Given the description of an element on the screen output the (x, y) to click on. 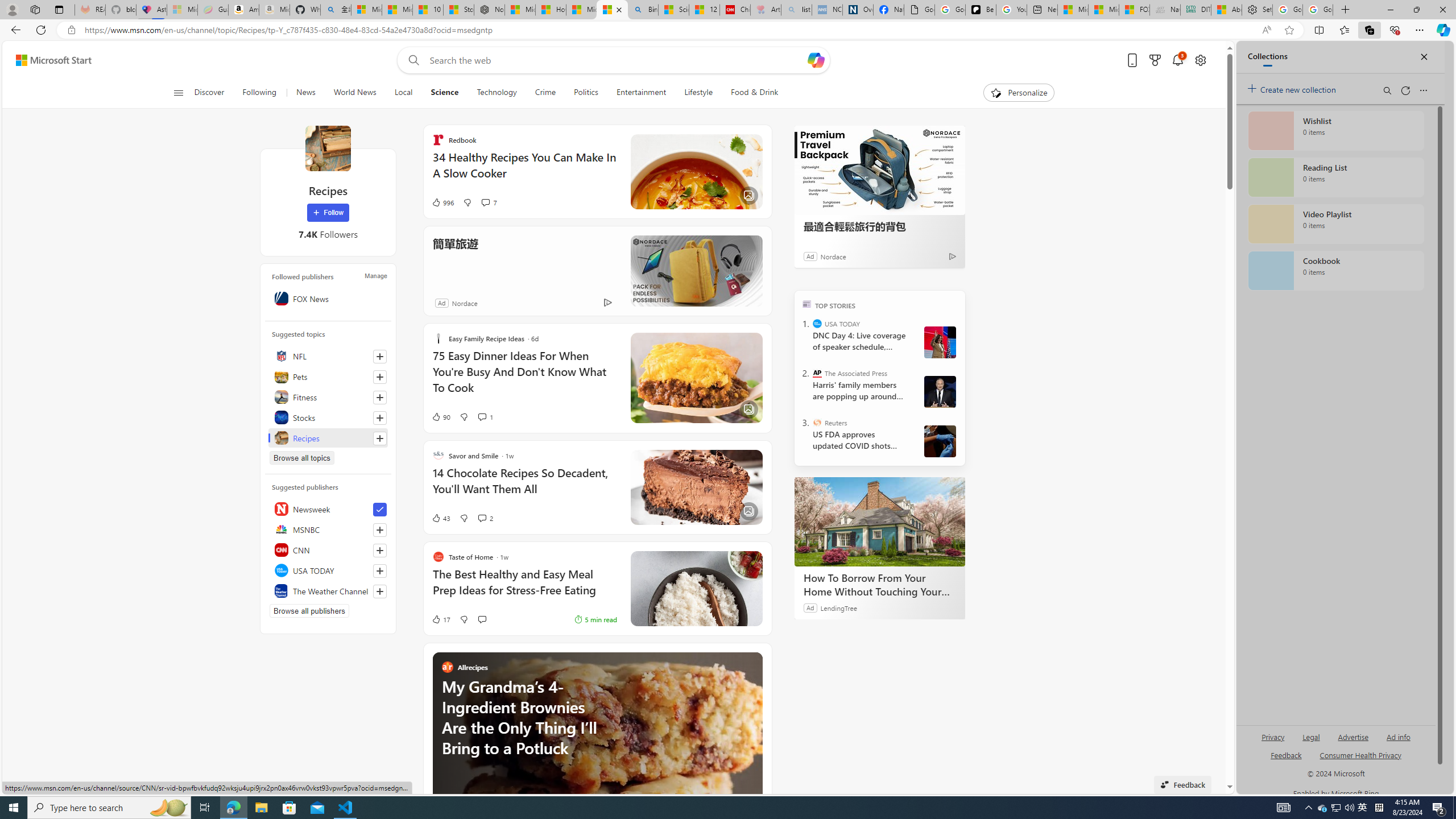
Follow this topic (379, 438)
Arthritis: Ask Health Professionals - Sleeping (765, 9)
Browse all publishers (309, 610)
